Given the description of an element on the screen output the (x, y) to click on. 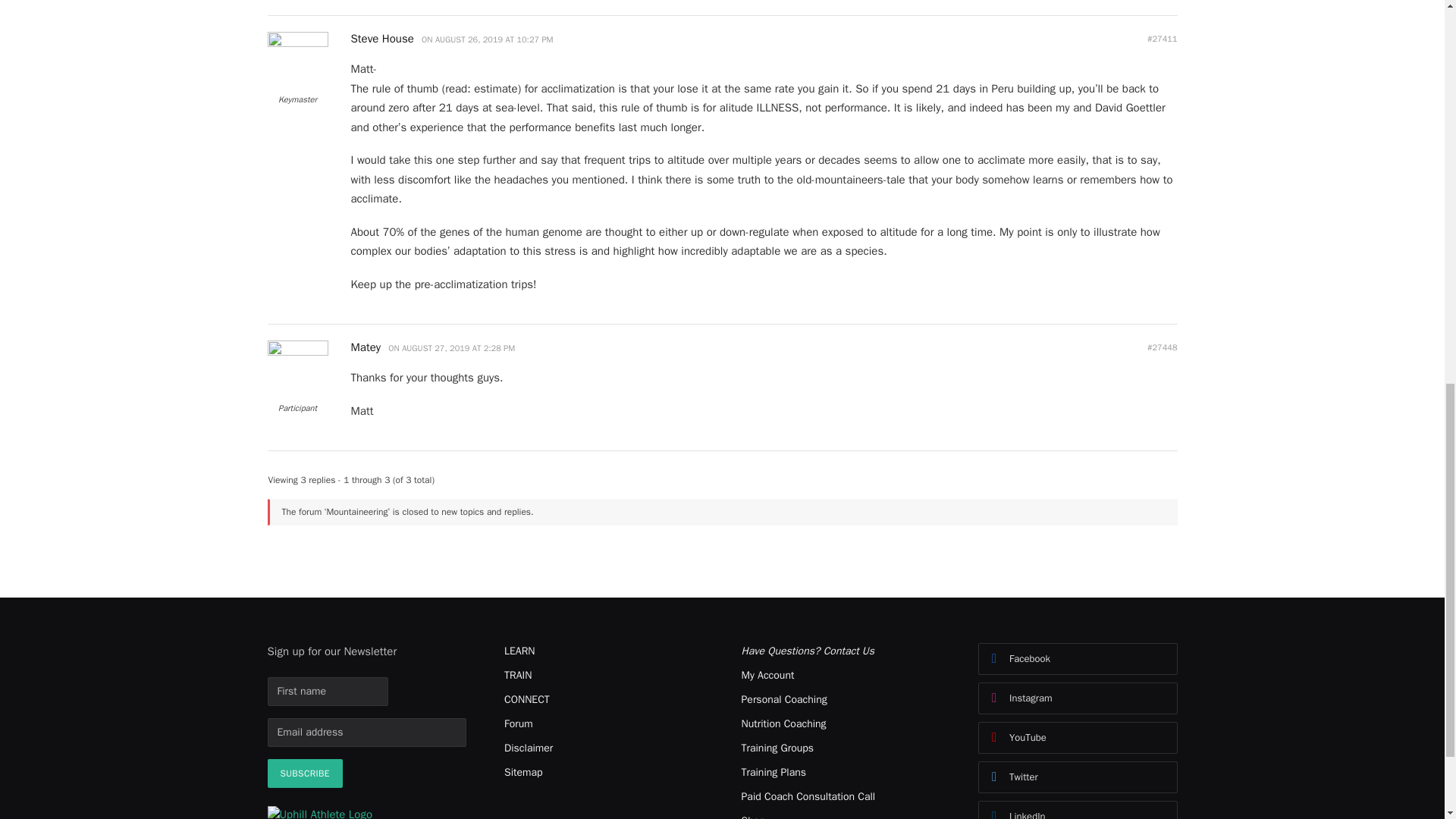
View Matey's profile (367, 347)
Subscribe (304, 773)
View Matey's profile (296, 352)
View Steve House's profile (296, 43)
View Steve House's profile (384, 39)
